Given the description of an element on the screen output the (x, y) to click on. 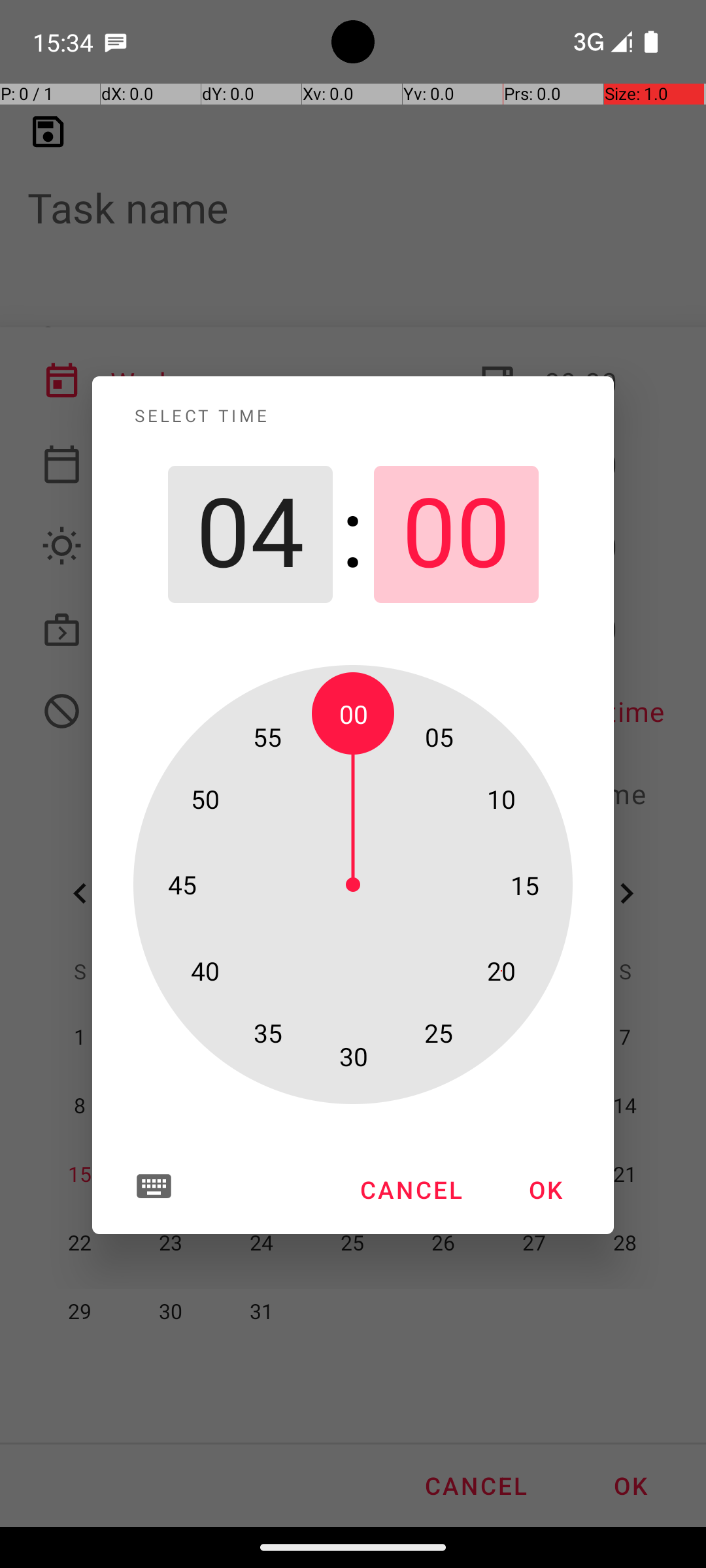
04 Element type: android.view.View (250, 534)
